Given the description of an element on the screen output the (x, y) to click on. 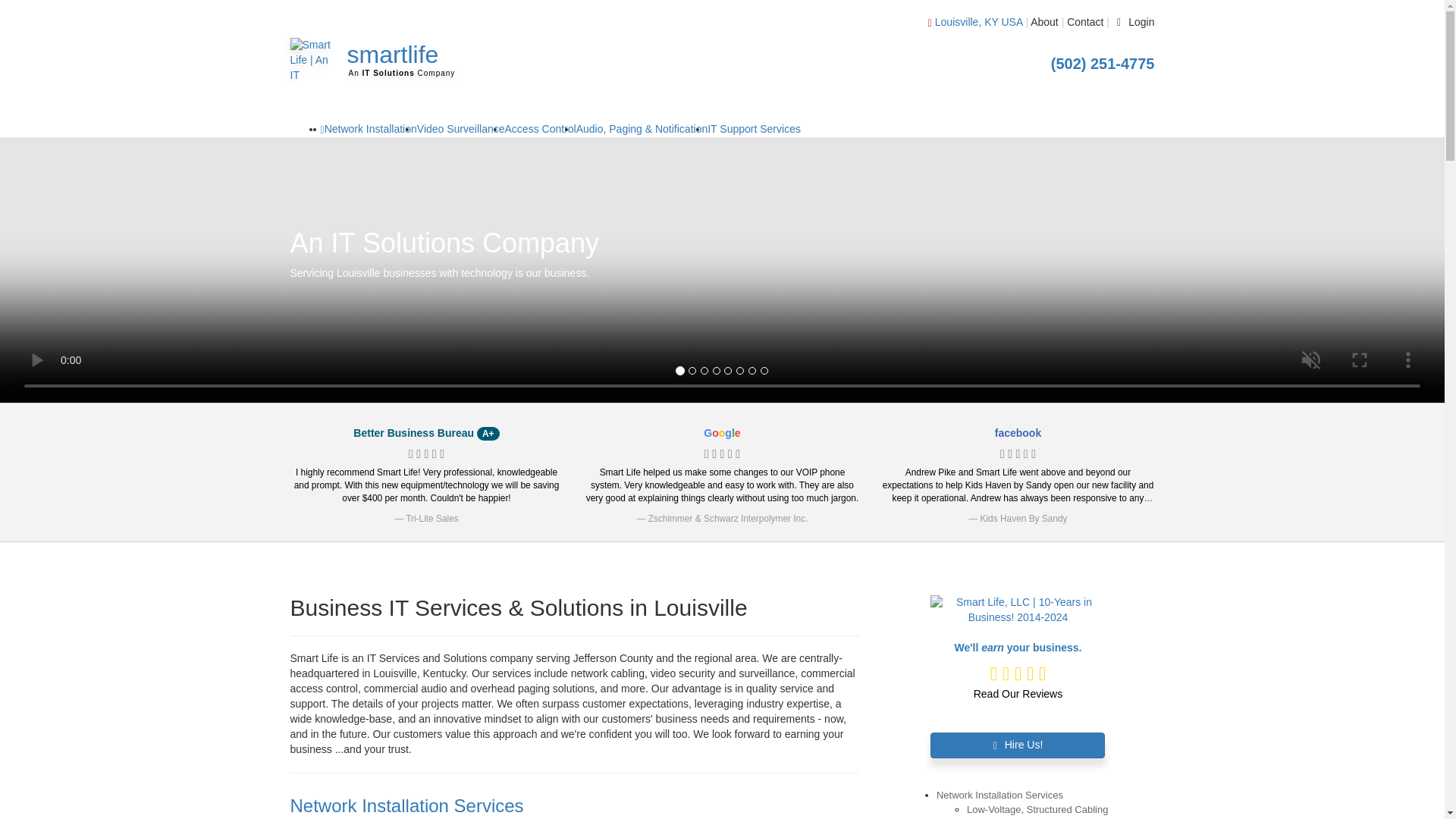
Louisville, KY USA (978, 21)
Login to the Smart Life Business Account Portal (1133, 21)
Login (1133, 21)
Contact Smart Life, LLC in Louisville, KY USA (1085, 21)
smartlife (393, 53)
Google Search: Louisville, KY USA (978, 21)
Video Surveillance (460, 128)
About (1044, 21)
Access Control (540, 128)
Contact (1085, 21)
Network Installation (370, 128)
About Smart Life, LLC in Louisville, KY USA (1044, 21)
